Given the description of an element on the screen output the (x, y) to click on. 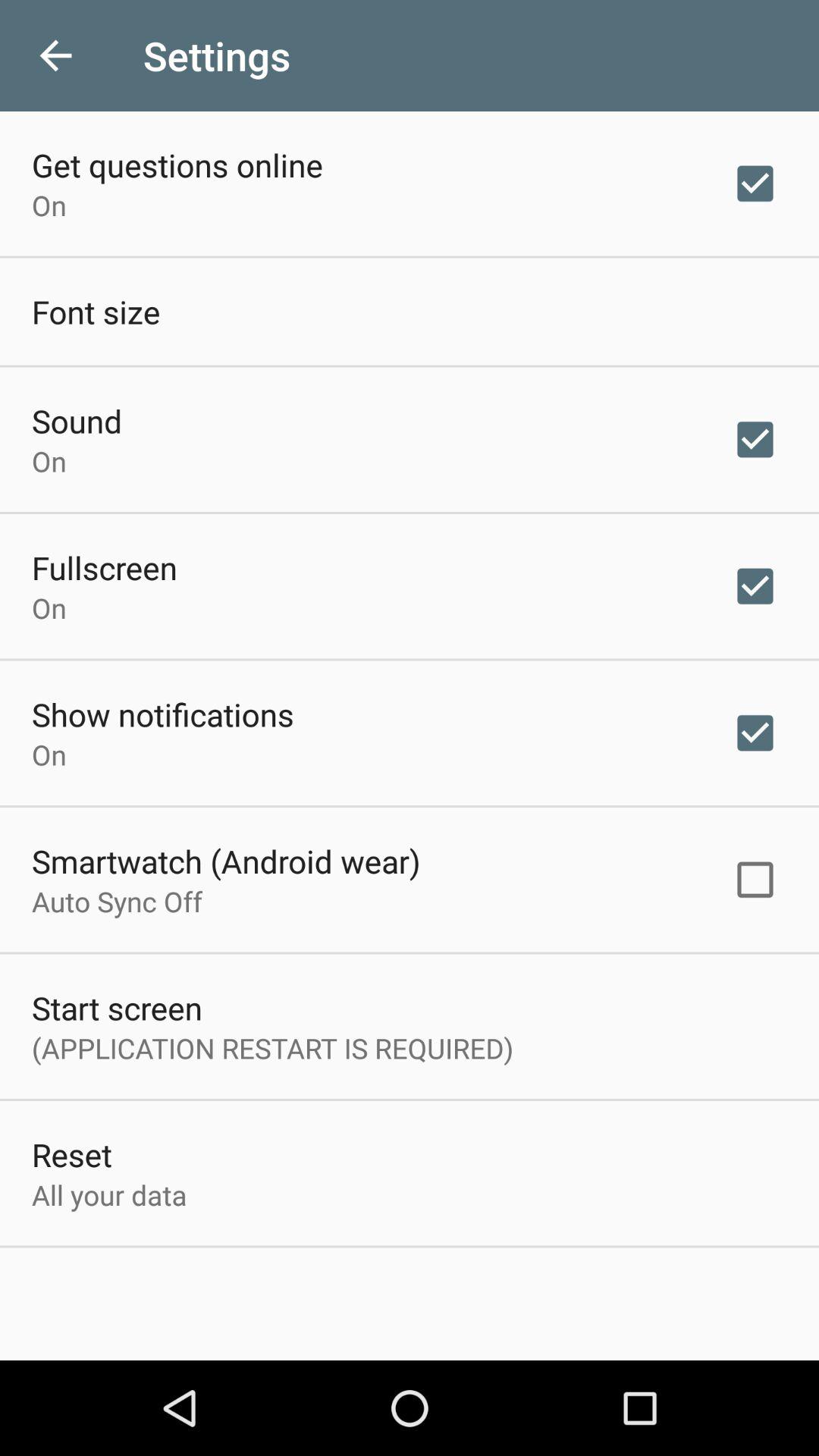
press the item above on item (104, 567)
